Given the description of an element on the screen output the (x, y) to click on. 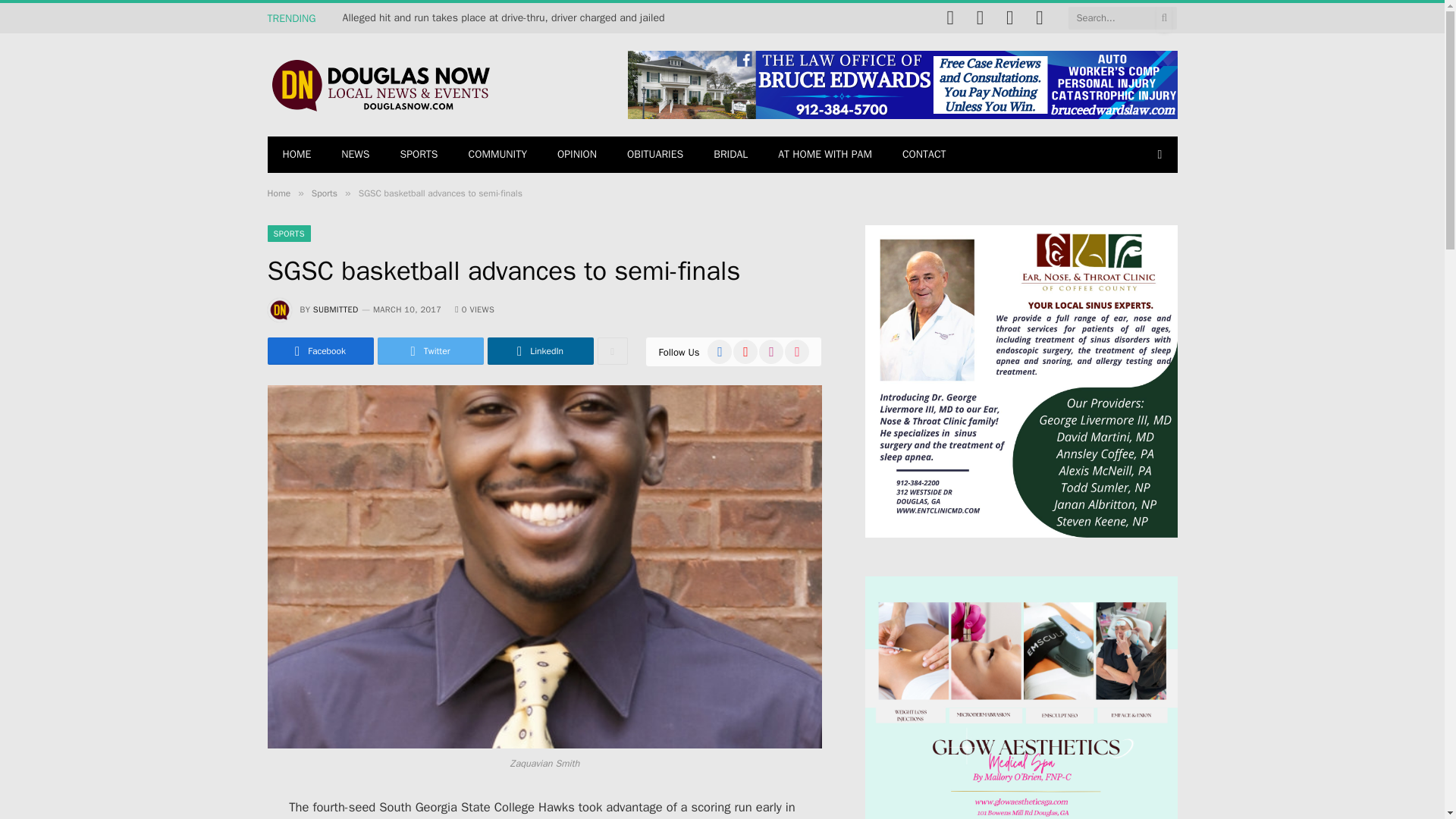
Switch to Dark Design - easier on eyes. (1158, 154)
TikTok (1038, 18)
Instagram (1009, 18)
0 Article Views (474, 308)
Share on Facebook (319, 350)
COMMUNITY (497, 154)
Douglas Now (379, 85)
Share on LinkedIn (539, 350)
OPINION (576, 154)
Facebook (949, 18)
Posts by Submitted (335, 308)
YouTube (980, 18)
SPORTS (418, 154)
HOME (296, 154)
